Given the description of an element on the screen output the (x, y) to click on. 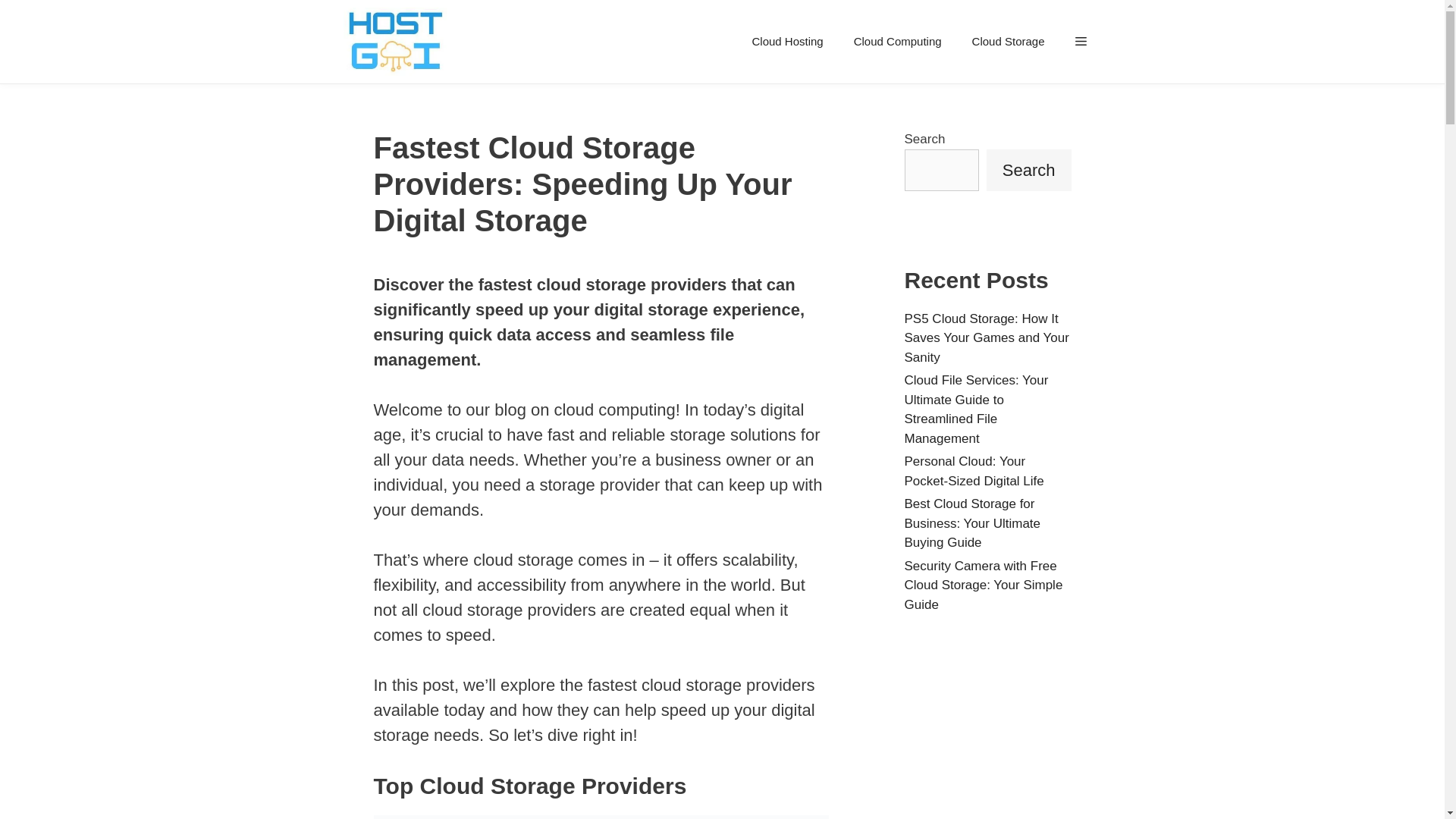
Cloud Storage (1007, 41)
HostGOI (398, 41)
Personal Cloud: Your Pocket-Sized Digital Life (973, 471)
Cloud Computing (897, 41)
Search (1029, 169)
Security Camera with Free Cloud Storage: Your Simple Guide (983, 583)
PS5 Cloud Storage: How It Saves Your Games and Your Sanity (986, 337)
Cloud Hosting (787, 41)
Best Cloud Storage for Business: Your Ultimate Buying Guide (972, 522)
HostGOI (394, 41)
